Given the description of an element on the screen output the (x, y) to click on. 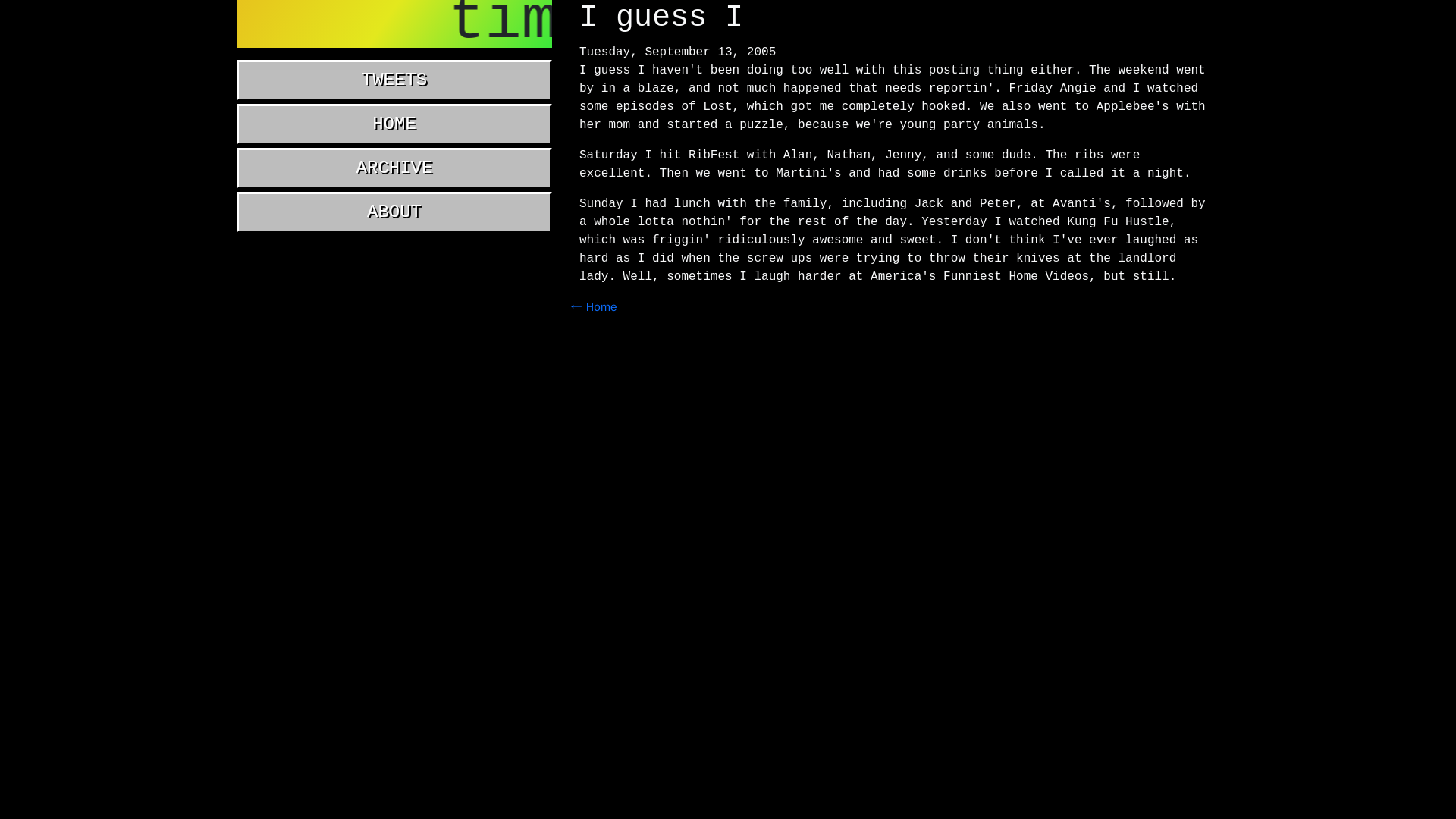
TWEETS (393, 79)
ARCHIVE (393, 168)
ABOUT (393, 211)
timwasson.com (393, 23)
HOME (393, 124)
